Given the description of an element on the screen output the (x, y) to click on. 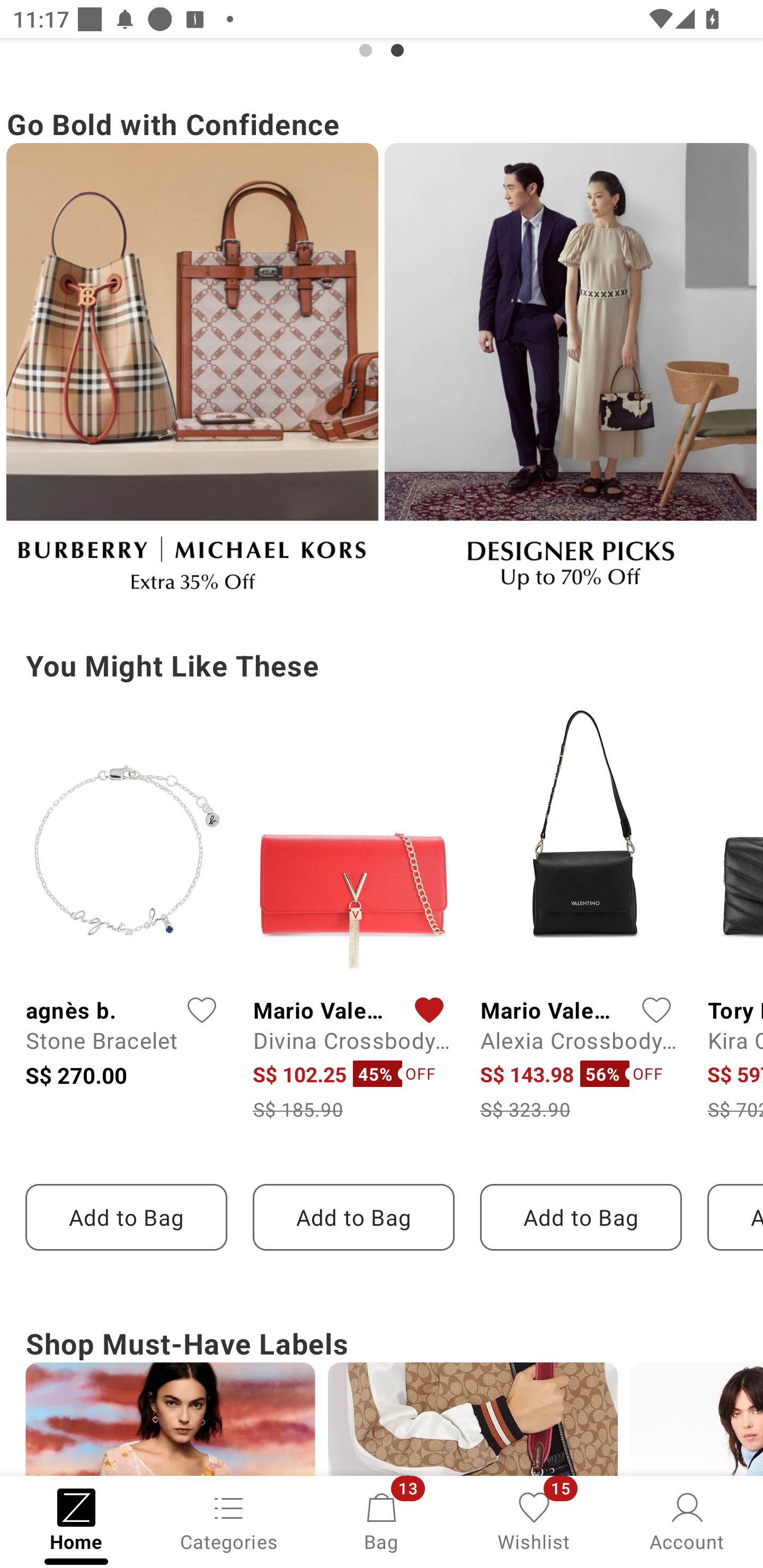
Campaign banner (192, 375)
Campaign banner (570, 375)
Add to Bag (126, 1217)
Add to Bag (353, 1217)
Add to Bag (580, 1217)
Categories (228, 1519)
Bag, 13 new notifications Bag (381, 1519)
Wishlist, 15 new notifications Wishlist (533, 1519)
Account (686, 1519)
